Given the description of an element on the screen output the (x, y) to click on. 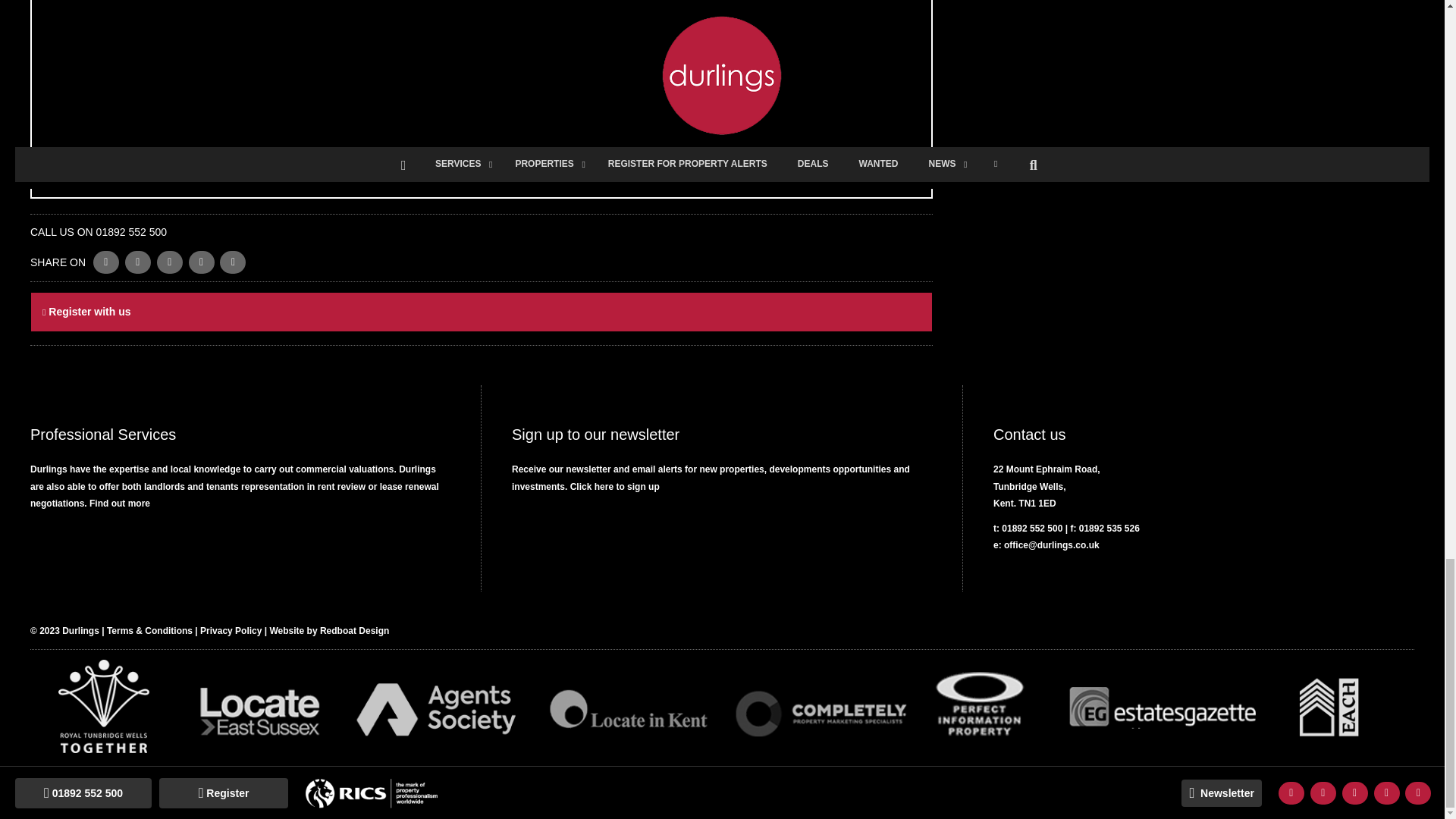
Tweet this! (106, 261)
Share on Facebook. (138, 261)
Privacy Policy (231, 630)
